Given the description of an element on the screen output the (x, y) to click on. 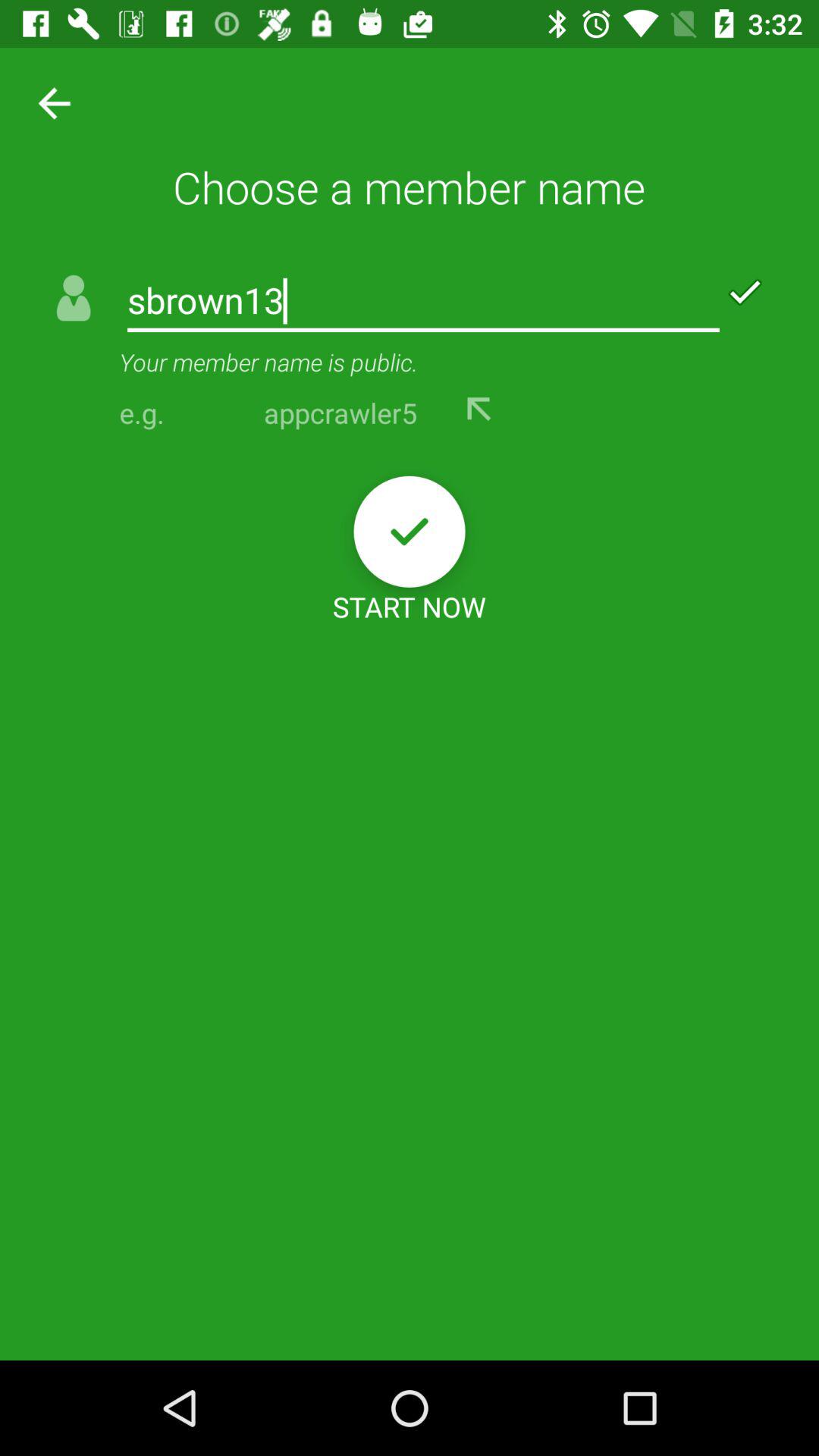
turn on icon next to choose a member icon (48, 102)
